Given the description of an element on the screen output the (x, y) to click on. 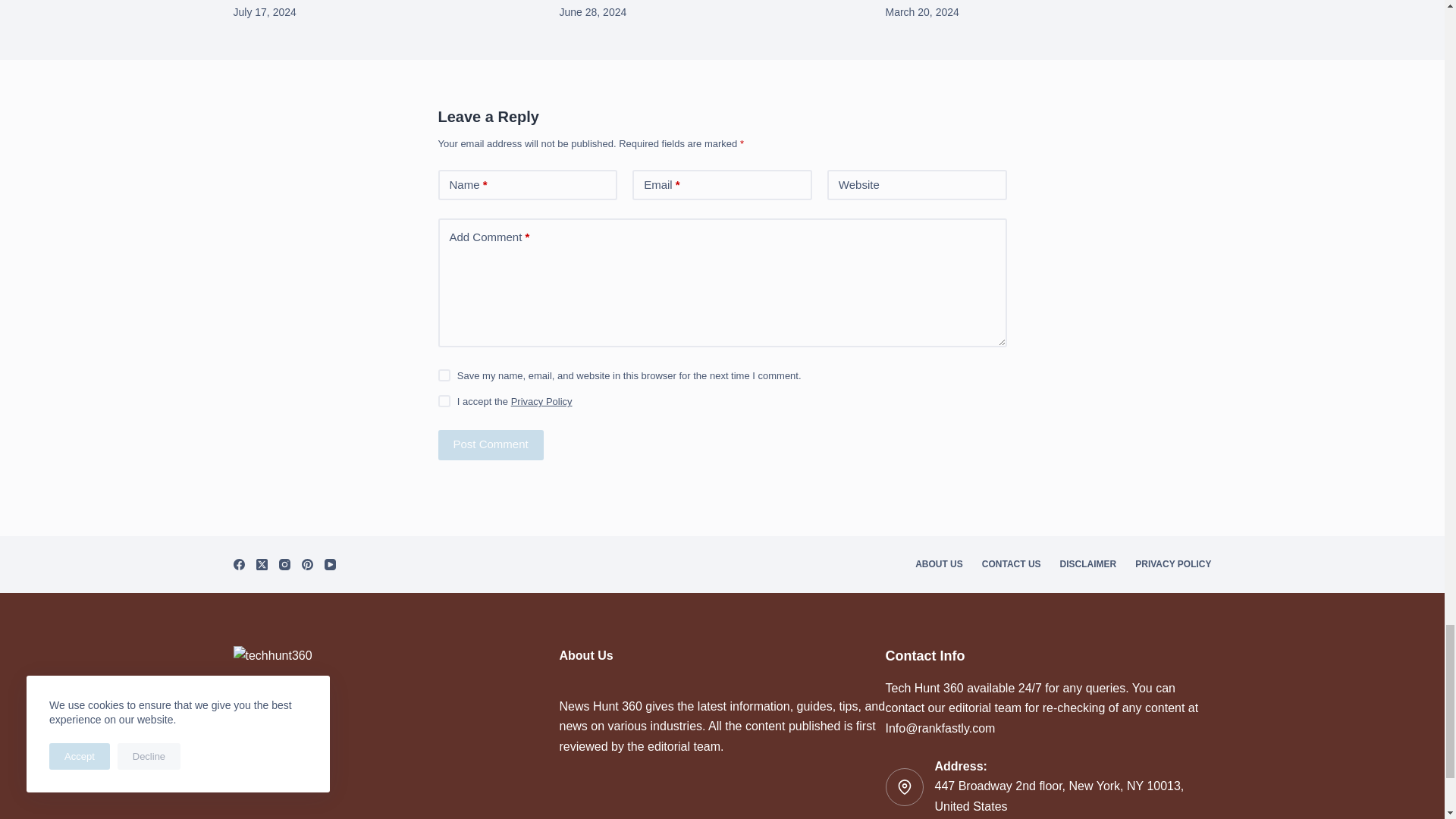
yes (443, 375)
on (443, 400)
